Given the description of an element on the screen output the (x, y) to click on. 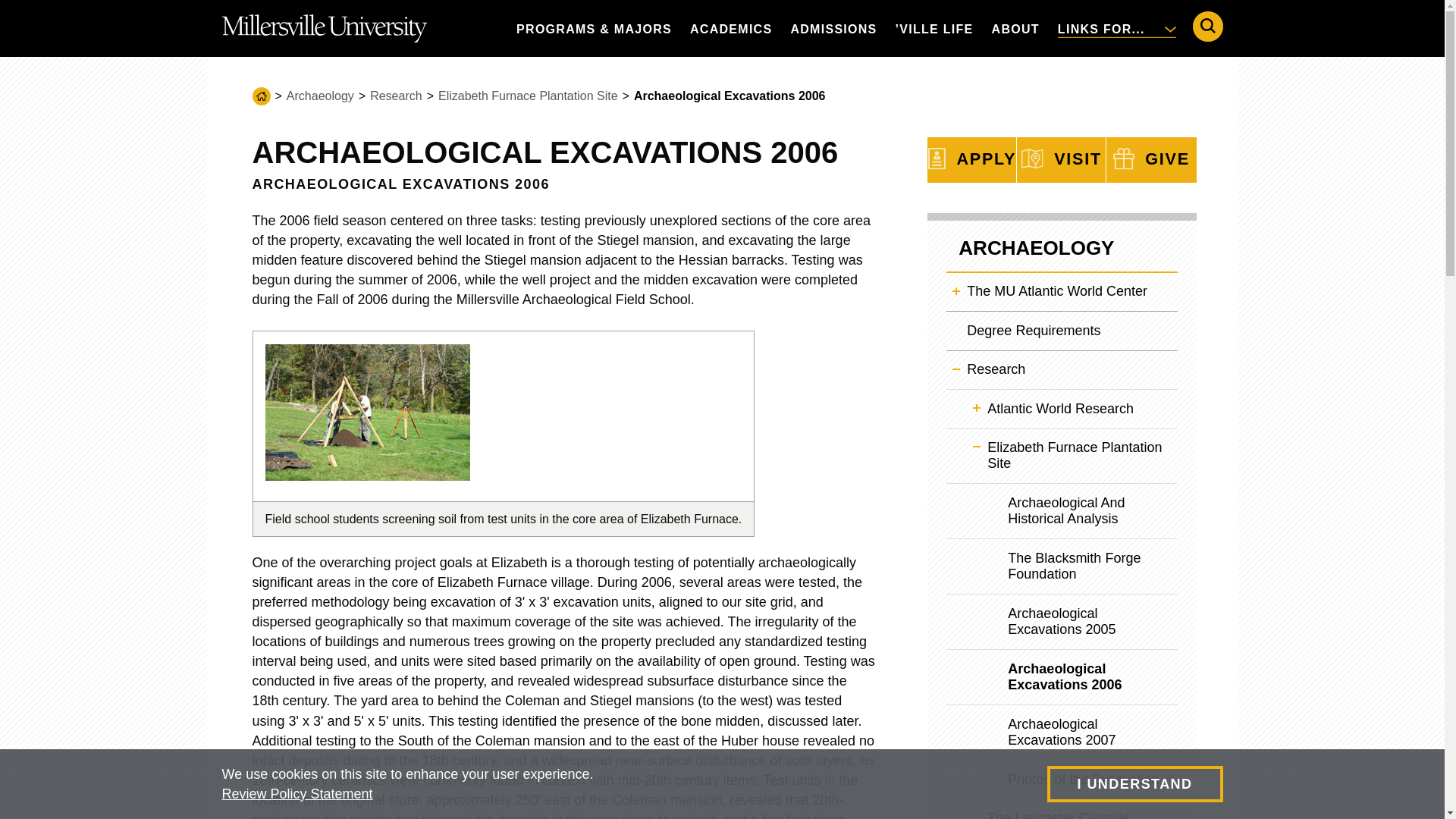
Admissions (832, 28)
Academics (730, 28)
ABOUT (1015, 28)
Millersville University Home Page (323, 28)
ACADEMICS (730, 28)
ADMISSIONS (832, 28)
What are you looking for? (1207, 26)
Millersville University Home Page (323, 28)
LINKS FOR... (1116, 28)
